Given the description of an element on the screen output the (x, y) to click on. 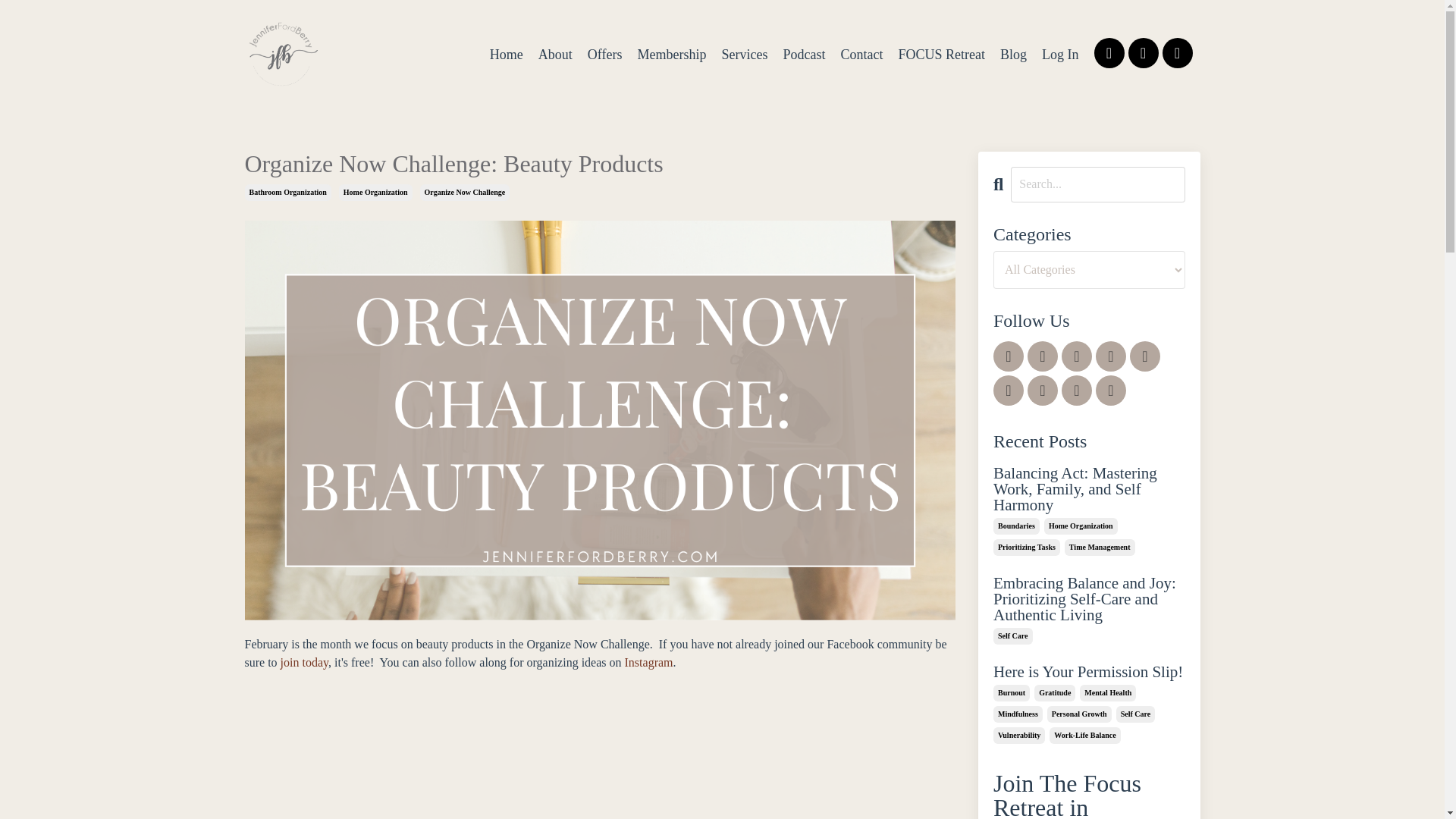
Organize Now Challenge (465, 192)
FOCUS Retreat (941, 55)
Membership (671, 55)
Time Management (1099, 547)
Prioritizing Tasks (1025, 547)
Home (505, 55)
Balancing Act: Mastering Work, Family, and Self Harmony (1088, 489)
About (555, 55)
Home Organization (1080, 525)
Log In (1060, 54)
Bathroom Organization (287, 192)
Blog (1013, 55)
Services (745, 55)
Boundaries (1015, 525)
Home Organization (375, 192)
